Given the description of an element on the screen output the (x, y) to click on. 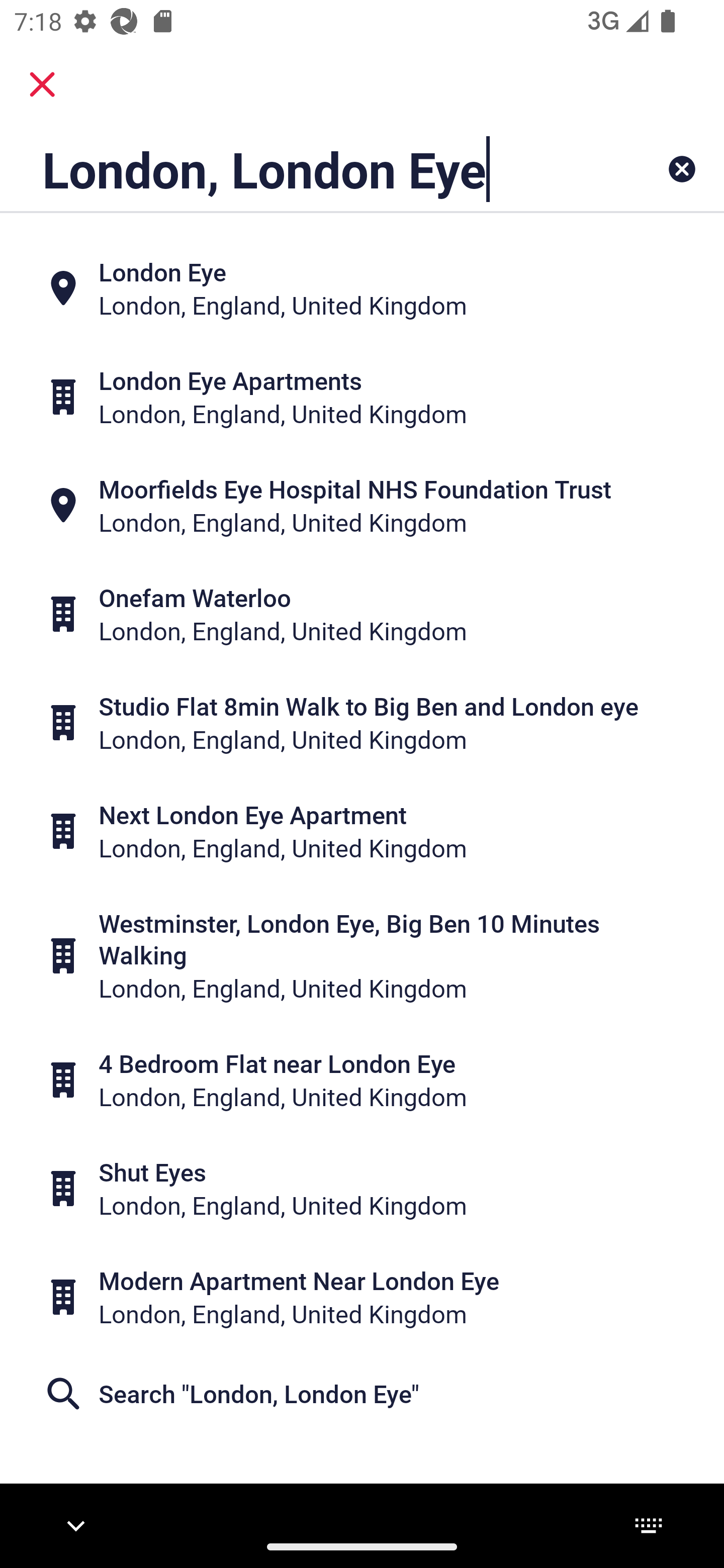
close. (42, 84)
Clear (681, 169)
London, London Eye (298, 169)
London Eye London, England, United Kingdom (362, 288)
Onefam Waterloo London, England, United Kingdom (362, 613)
Shut Eyes London, England, United Kingdom (362, 1188)
Search "London, London Eye" (361, 1393)
